Given the description of an element on the screen output the (x, y) to click on. 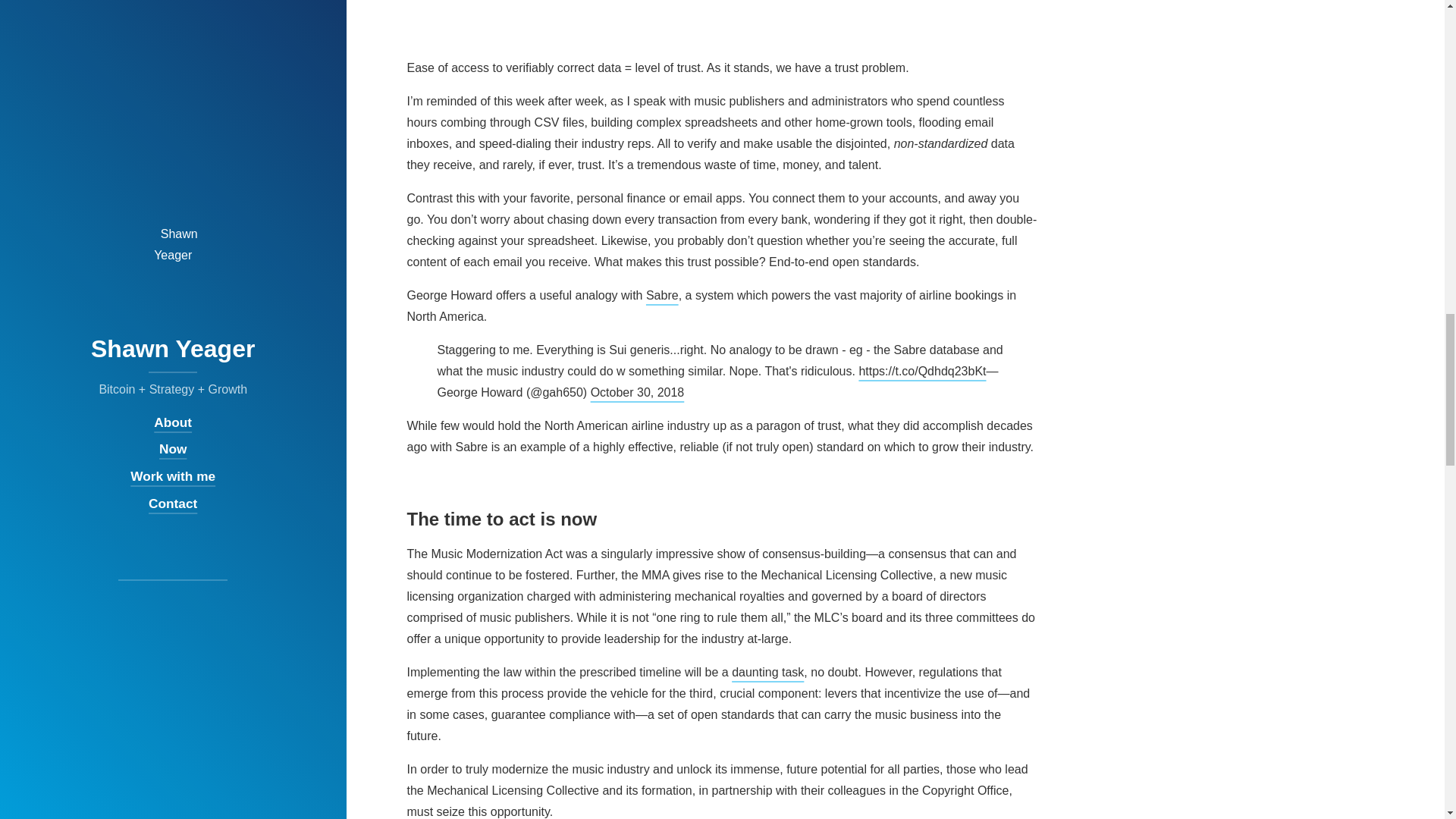
Sabre (662, 295)
daunting task (767, 671)
trust is created or destroyed with data (704, 23)
October 30, 2018 (637, 391)
